Given the description of an element on the screen output the (x, y) to click on. 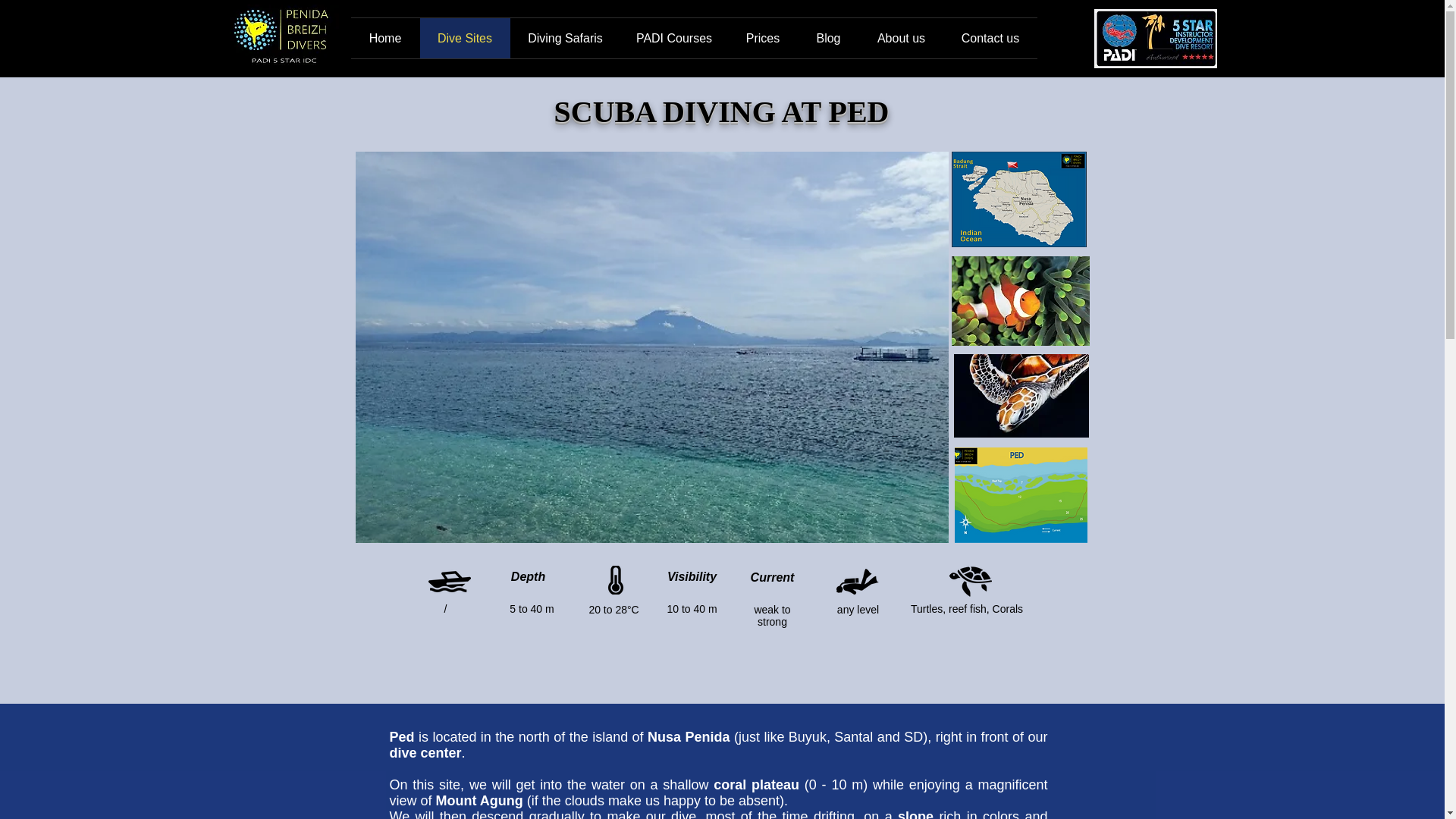
10921.png (856, 581)
About us (901, 38)
Home (384, 38)
Blog (828, 38)
Prices (762, 38)
padi-5-star-instructor-development-respo (1154, 38)
47440.png (970, 581)
Dive Sites (465, 38)
PADI Courses (673, 38)
Malibu Point (1013, 164)
Contact us (989, 38)
Diving Safaris (564, 38)
